Given the description of an element on the screen output the (x, y) to click on. 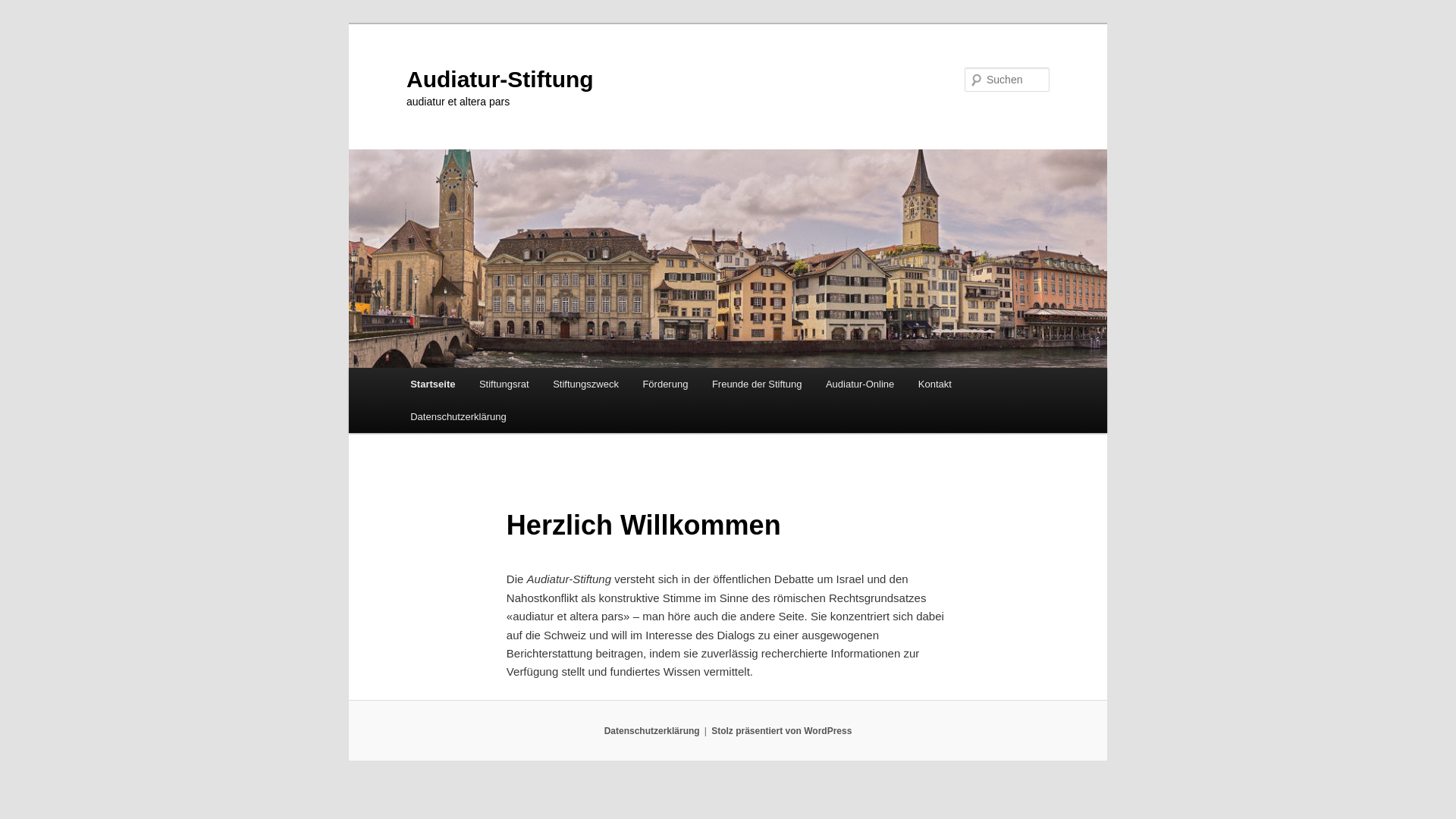
Audiatur-Stiftung Element type: text (499, 78)
Startseite Element type: text (432, 383)
Freunde der Stiftung Element type: text (756, 383)
Stiftungsrat Element type: text (503, 383)
Kontakt Element type: text (934, 383)
Audiatur-Online Element type: text (859, 383)
Suchen Element type: text (25, 8)
Stiftungszweck Element type: text (585, 383)
Zum Inhalt wechseln Element type: text (22, 22)
